Given the description of an element on the screen output the (x, y) to click on. 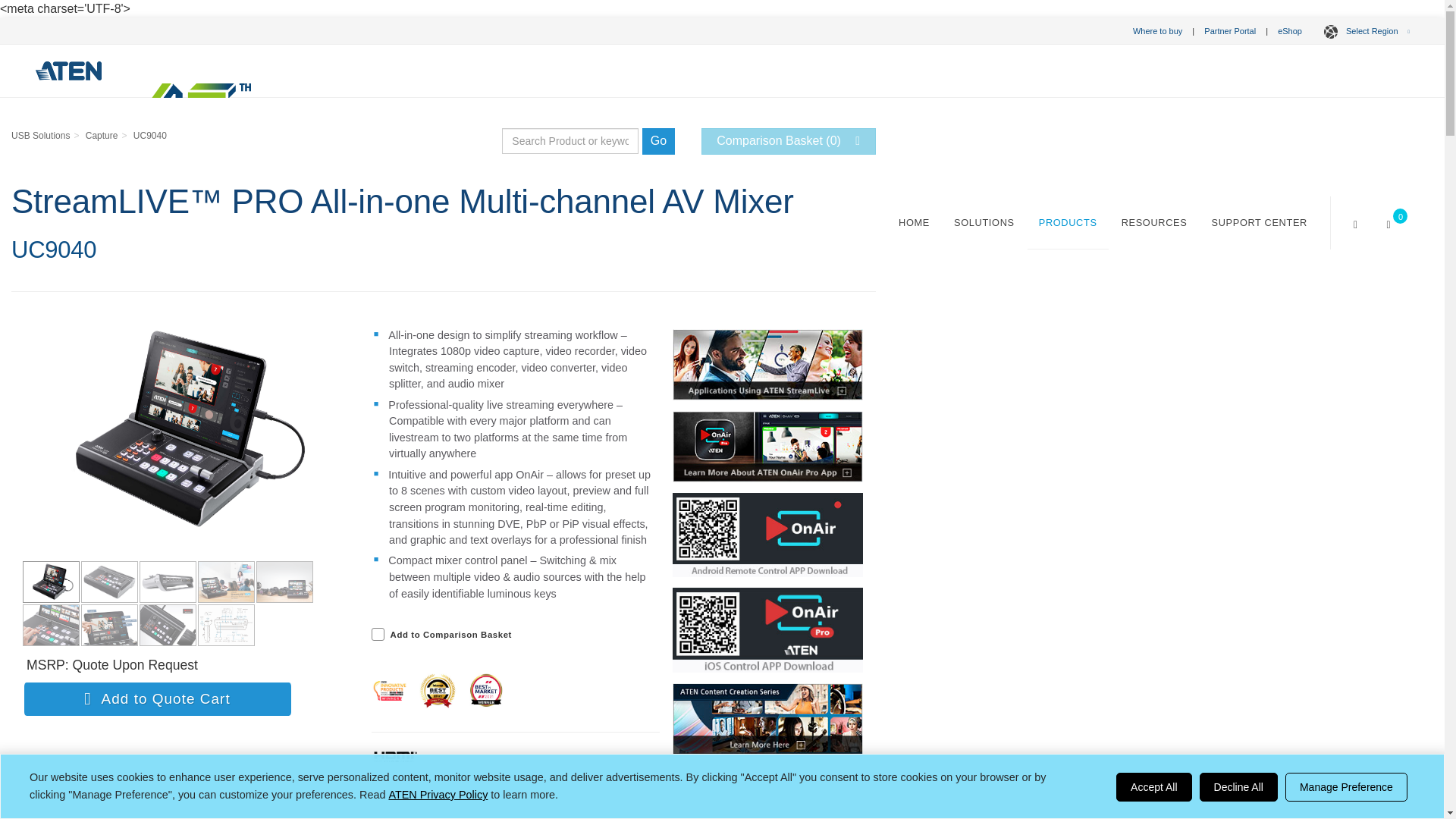
eShop (1288, 31)
Home (913, 222)
Partner Portal (1229, 31)
Where to buy (1157, 31)
Select Region (1363, 31)
